Given the description of an element on the screen output the (x, y) to click on. 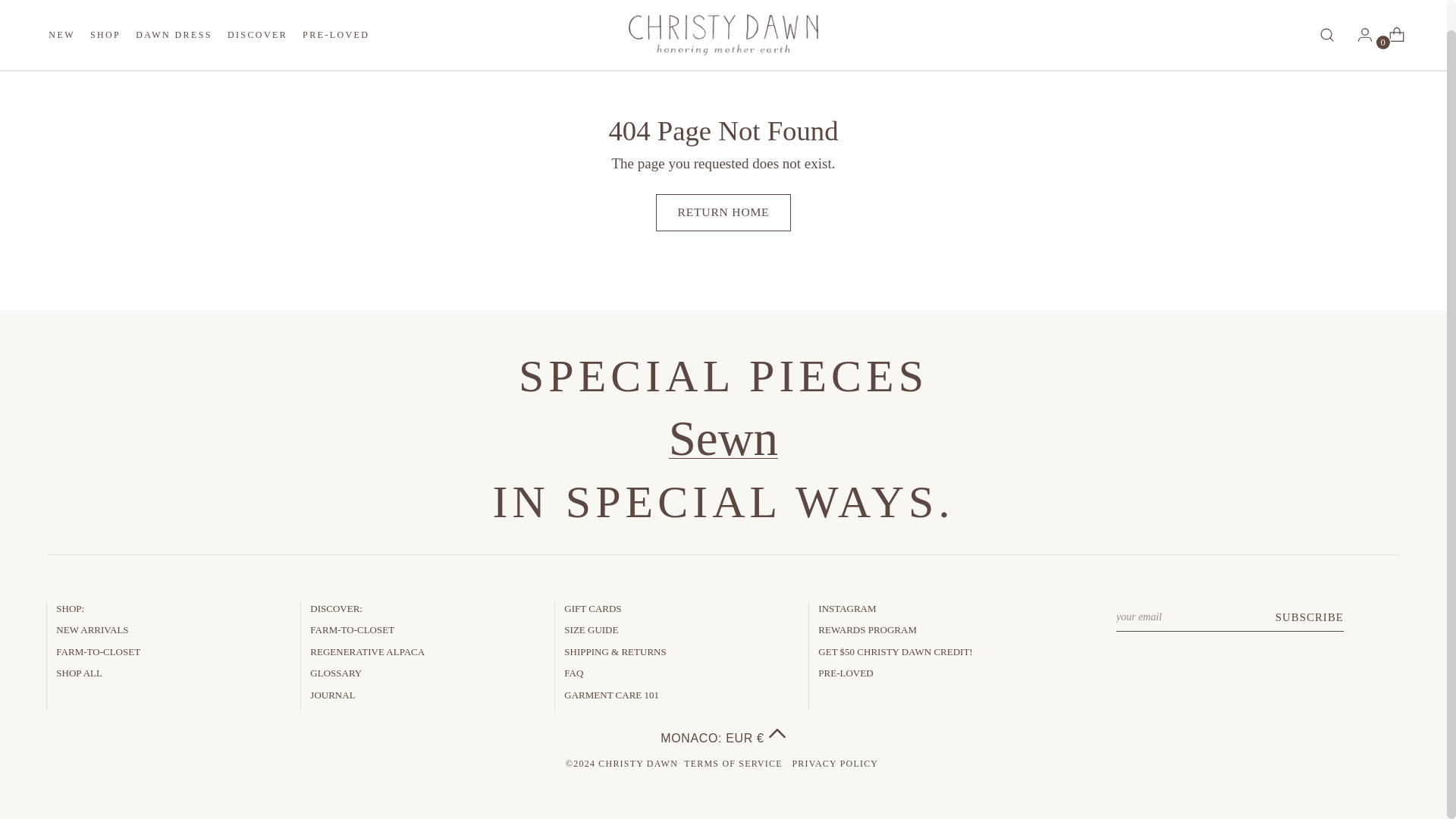
DISCOVER (208, 32)
DAWN DRESS (256, 29)
SHOP (173, 29)
PRE-LOVED (105, 29)
